Given the description of an element on the screen output the (x, y) to click on. 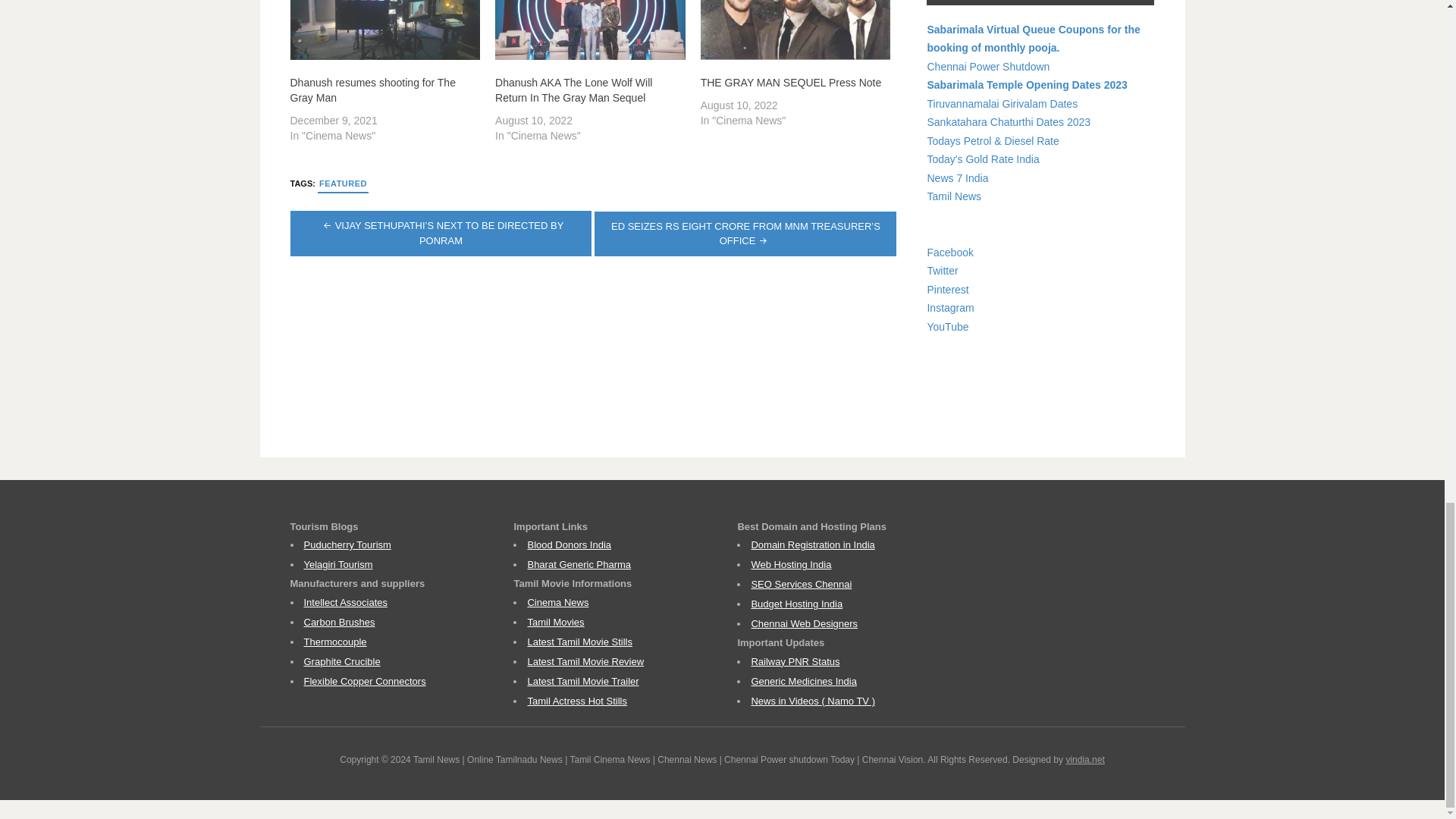
THE GRAY MAN SEQUEL Press Note (795, 29)
Dhanush AKA The Lone Wolf Will Return In The Gray Man Sequel (590, 29)
Dhanush resumes shooting for The Gray Man (384, 29)
Dhanush AKA The Lone Wolf Will Return In The Gray Man Sequel (573, 90)
Dhanush resumes shooting for The Gray Man (371, 90)
THE GRAY MAN SEQUEL Press Note (791, 82)
